Given the description of an element on the screen output the (x, y) to click on. 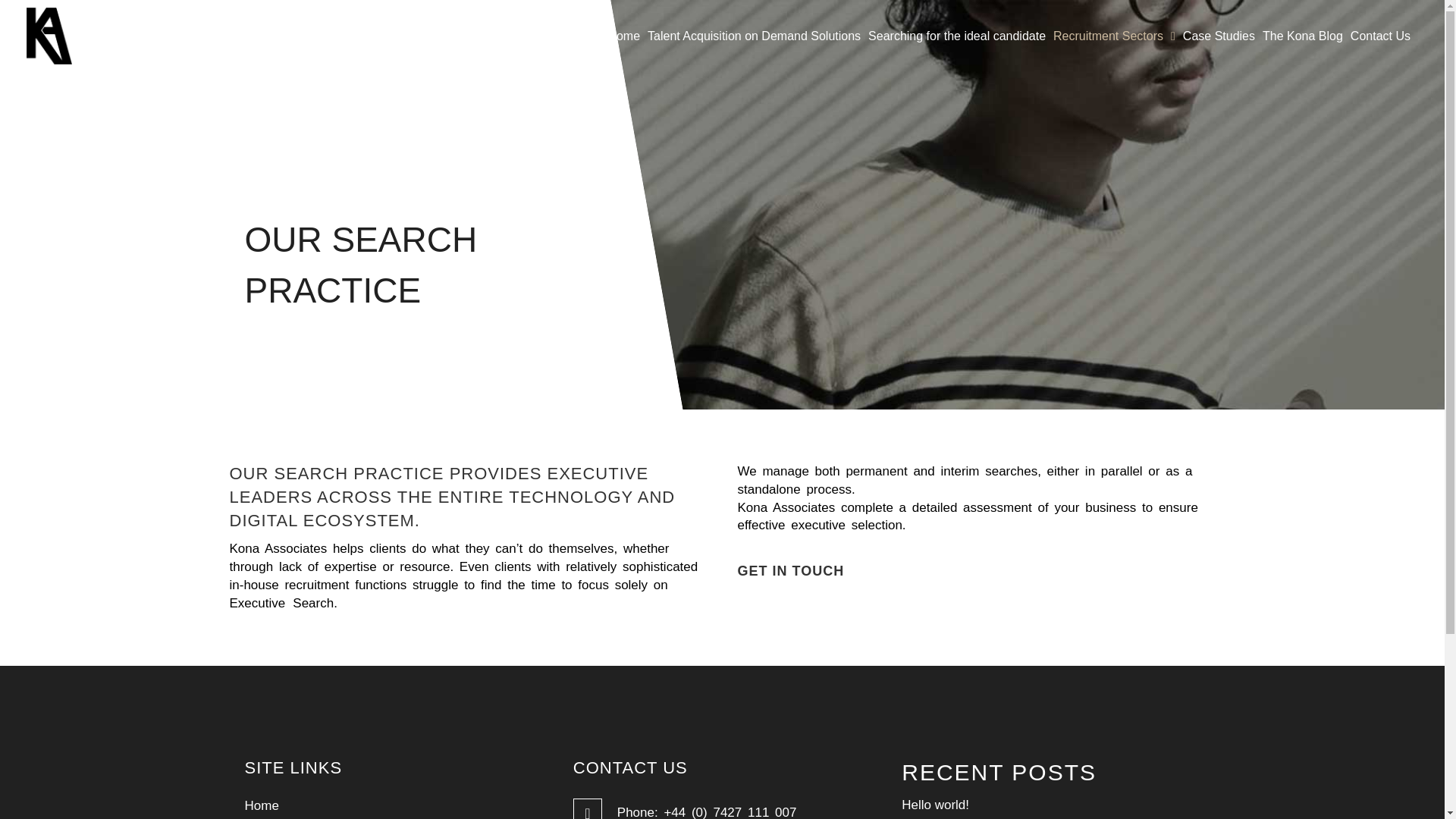
The Kona Blog (1302, 35)
Contact Us (1379, 35)
Recruitment Sectors (1114, 35)
Case Studies (1219, 35)
Home (623, 35)
GET IN TOUCH (790, 571)
Home (392, 805)
Talent Acquisition on Demand Solutions (753, 35)
Searching for the ideal candidate (956, 35)
